Given the description of an element on the screen output the (x, y) to click on. 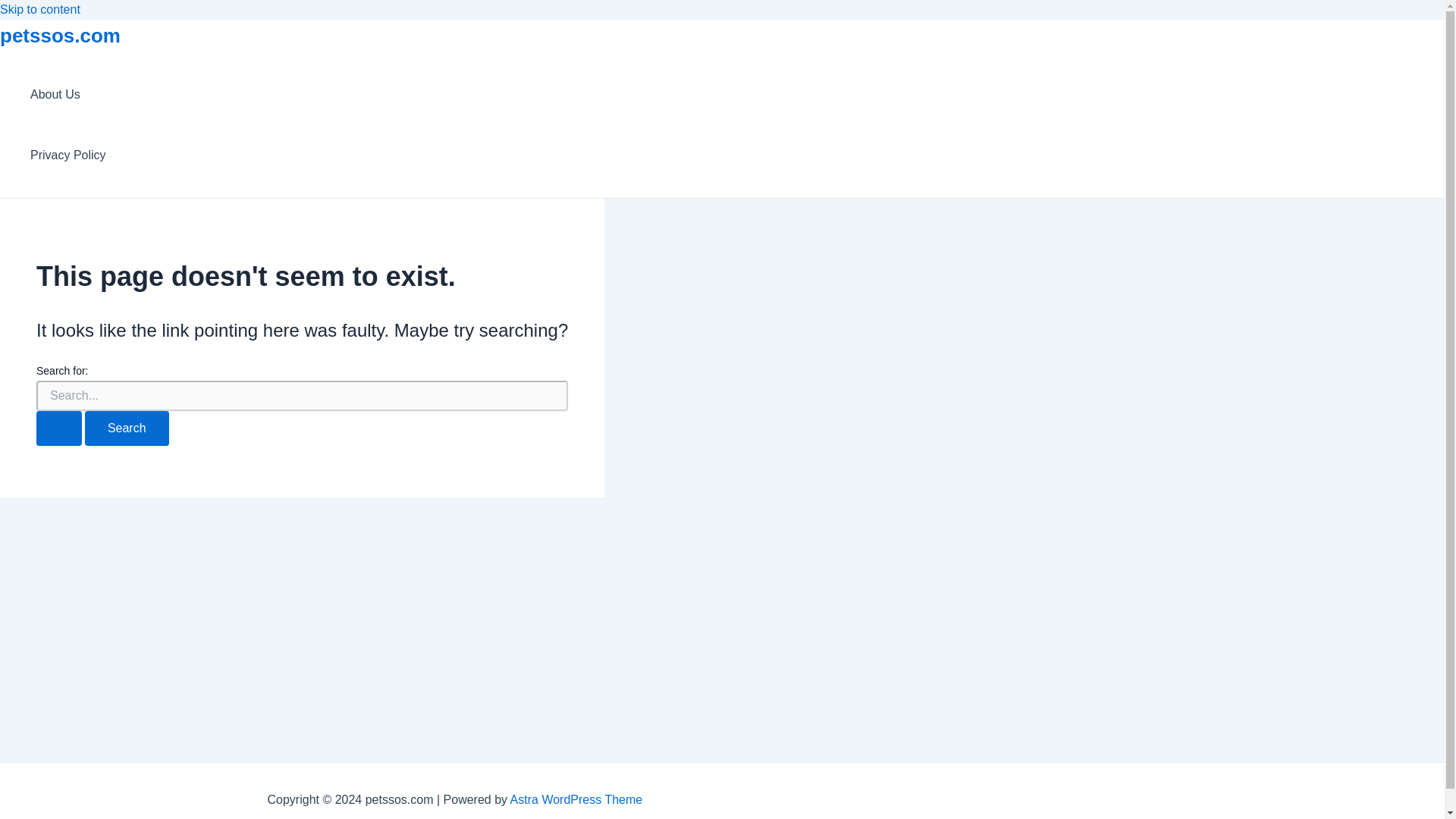
About Us (68, 94)
Astra WordPress Theme (577, 799)
Search (126, 428)
Search (126, 428)
Skip to content (40, 9)
Skip to content (40, 9)
Privacy Policy (68, 155)
petssos.com (60, 35)
Search (126, 428)
